Given the description of an element on the screen output the (x, y) to click on. 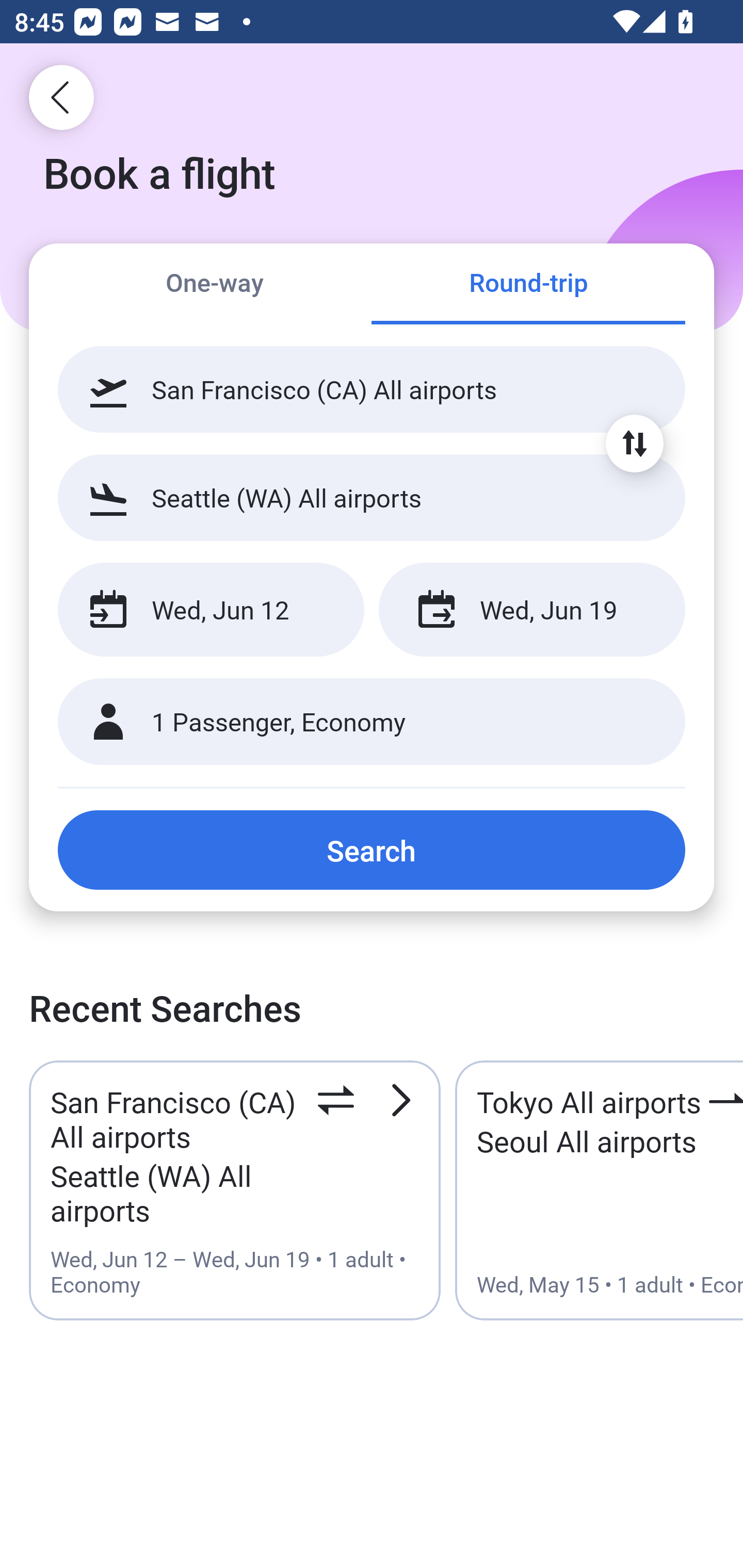
One-way (214, 284)
San Francisco (CA) All airports (371, 389)
Seattle (WA) All airports (371, 497)
Wed, Jun 12 (210, 609)
Wed, Jun 19 (531, 609)
1 Passenger, Economy (371, 721)
Search (371, 849)
